Given the description of an element on the screen output the (x, y) to click on. 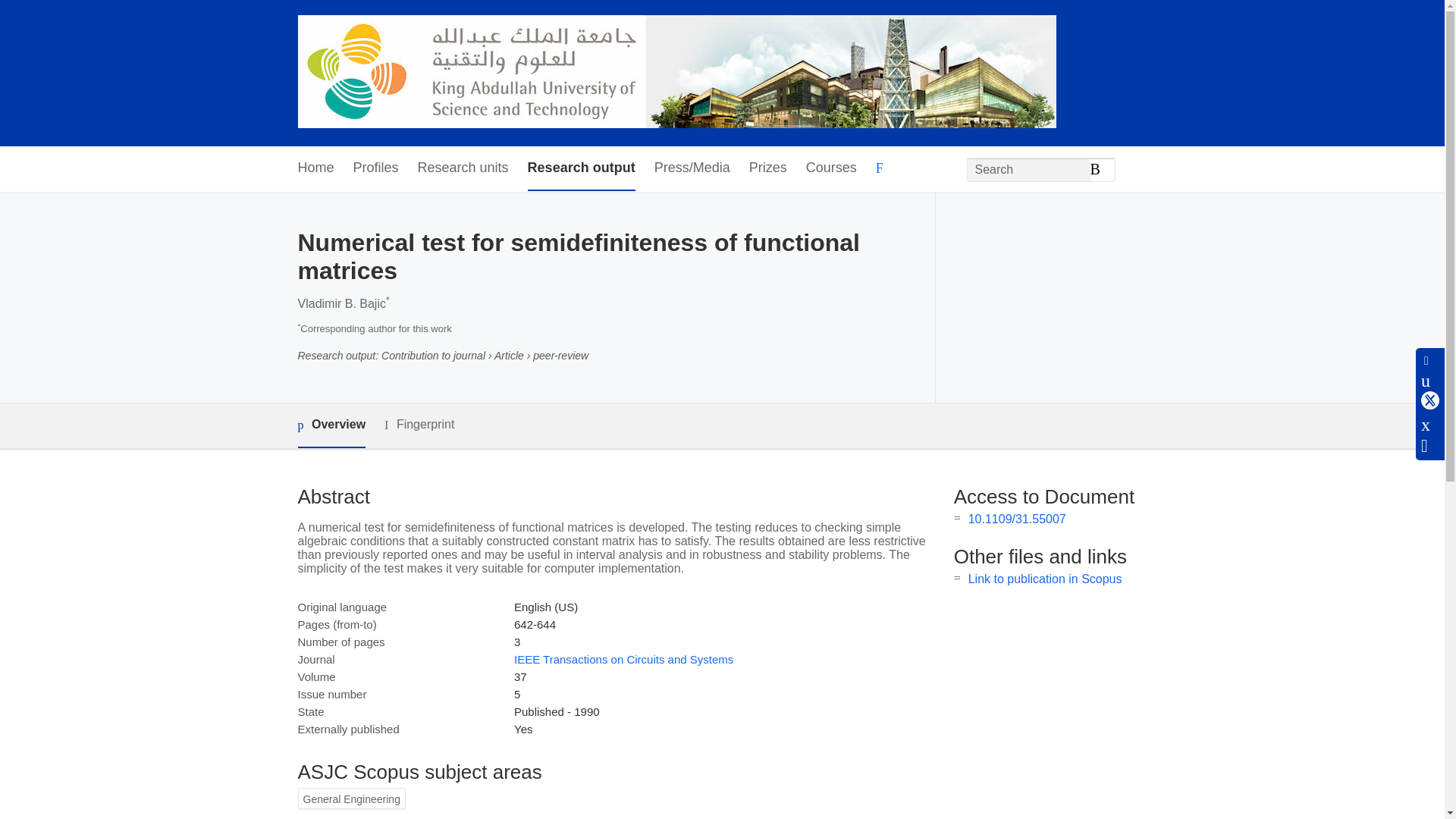
Research output (580, 168)
Link to publication in Scopus (1045, 578)
KAUST PORTAL FOR RESEARCHERS AND STUDENTS Home (676, 73)
Overview (331, 425)
IEEE Transactions on Circuits and Systems (623, 658)
Courses (831, 168)
Fingerprint (419, 424)
Profiles (375, 168)
Research units (462, 168)
